Given the description of an element on the screen output the (x, y) to click on. 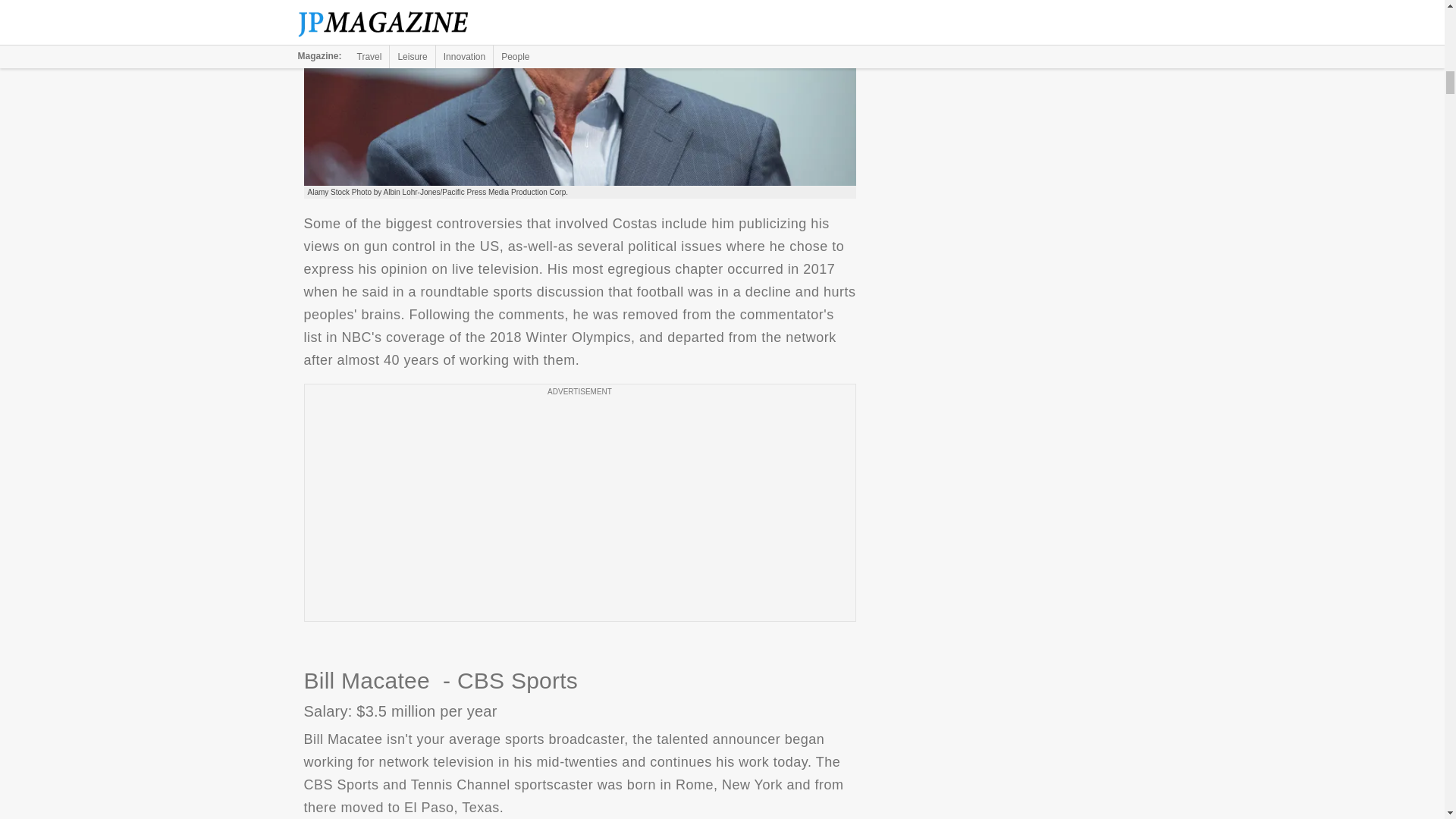
Bob Costas - MLB Network (579, 92)
